Given the description of an element on the screen output the (x, y) to click on. 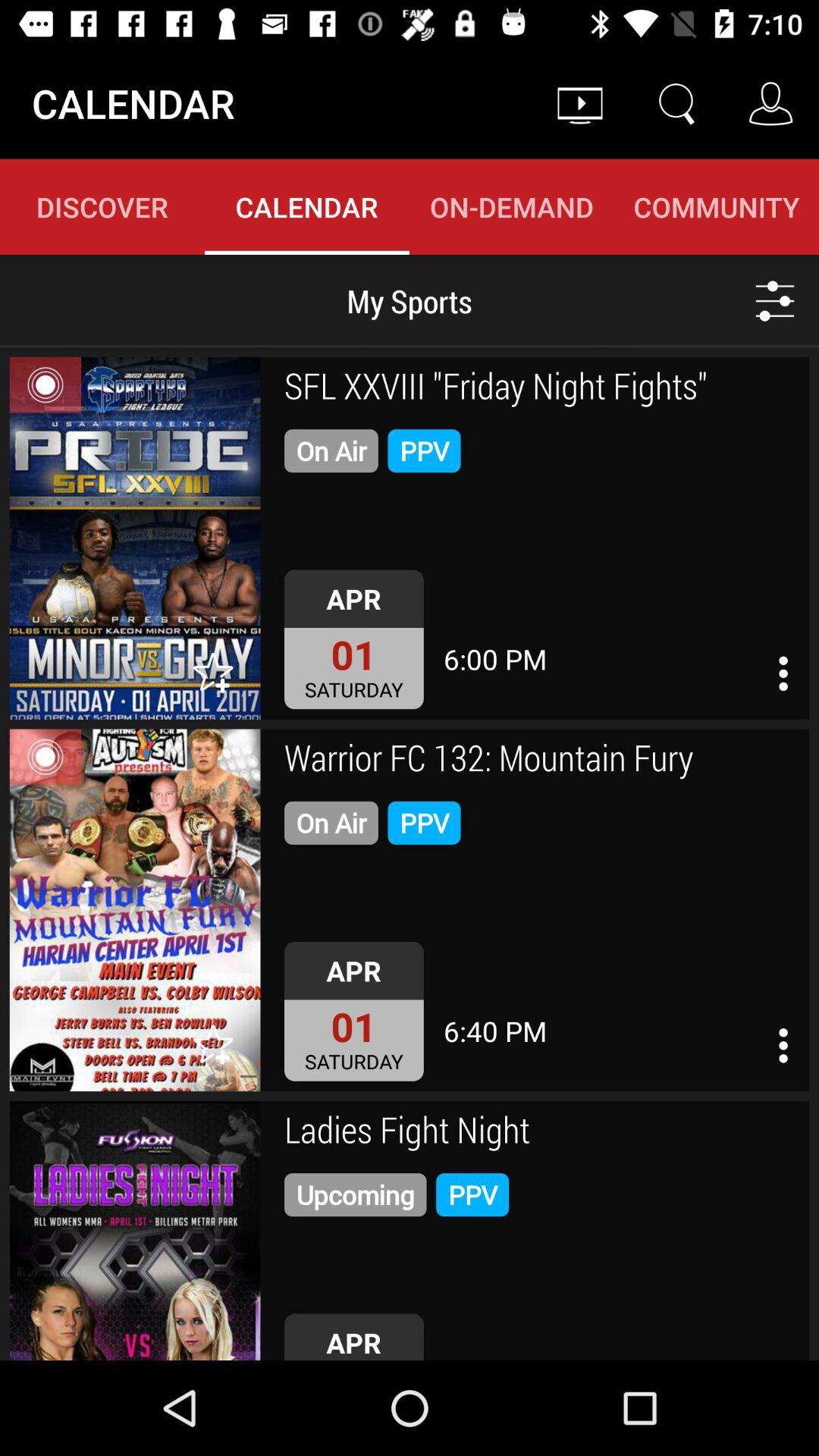
go to ladies fight night (134, 1230)
